Given the description of an element on the screen output the (x, y) to click on. 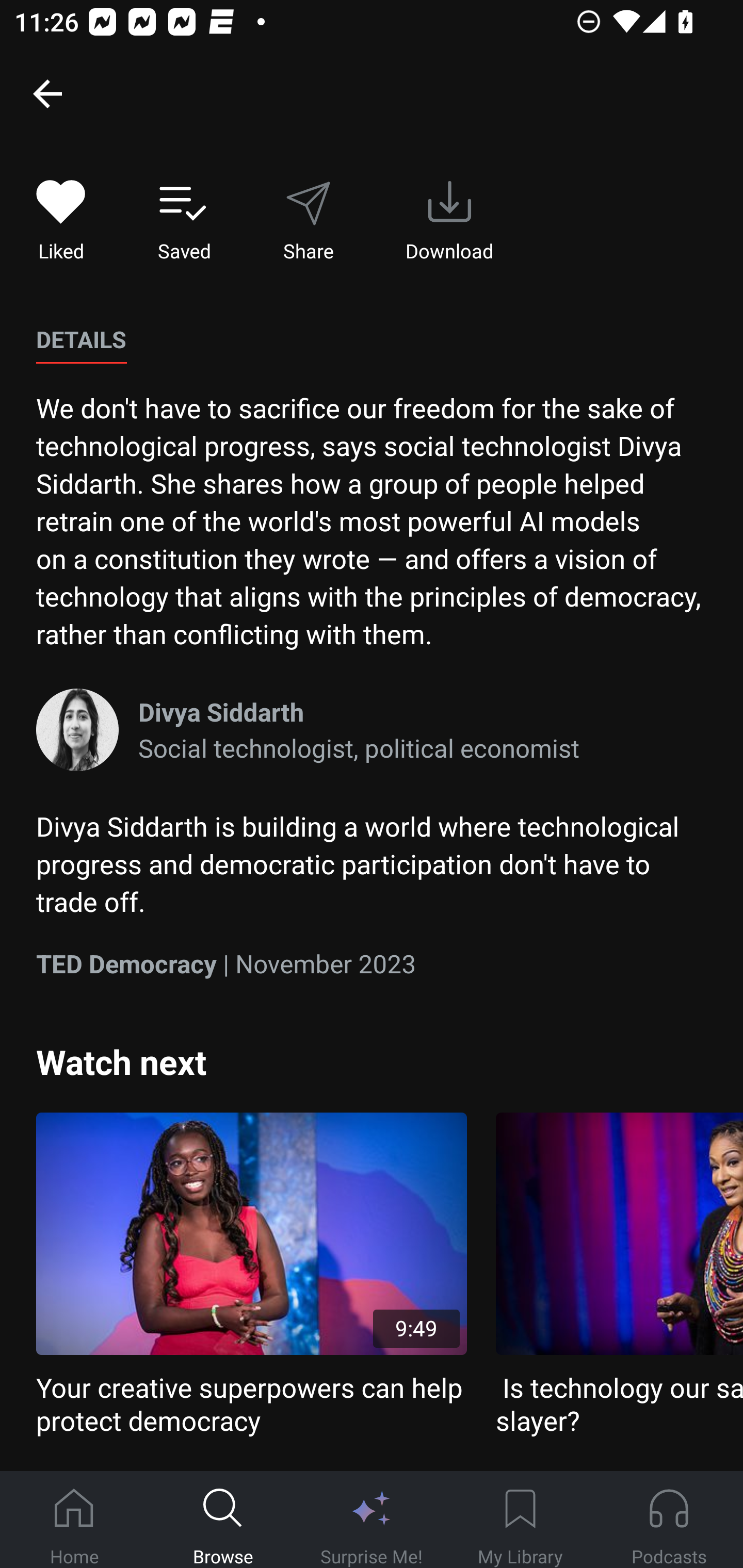
Search, back (47, 92)
Liked (60, 220)
Saved (183, 220)
Share (308, 220)
Download (449, 220)
DETAILS (80, 339)
 Is technology our savior — or our slayer? (619, 1275)
Home (74, 1520)
Browse (222, 1520)
Surprise Me! (371, 1520)
My Library (519, 1520)
Podcasts (668, 1520)
